Given the description of an element on the screen output the (x, y) to click on. 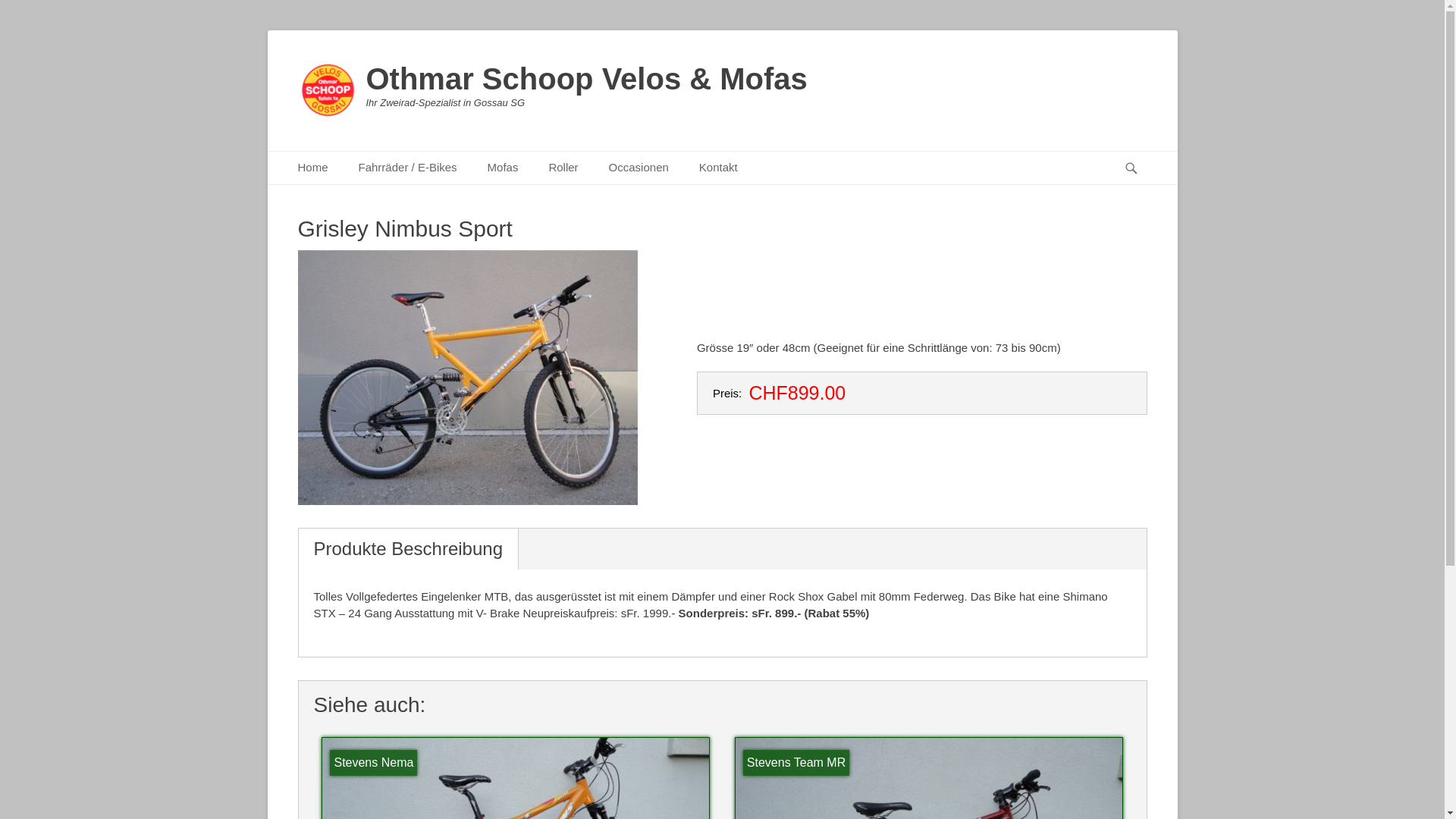
Roller Element type: text (563, 167)
Mofas Element type: text (502, 167)
Occasionen Element type: text (638, 167)
Othmar Schoop Velos & Mofas Element type: text (585, 78)
Kontakt Element type: text (718, 167)
Suchen Element type: text (1137, 150)
Home Element type: text (312, 167)
Produkte Beschreibung Element type: text (408, 548)
